Given the description of an element on the screen output the (x, y) to click on. 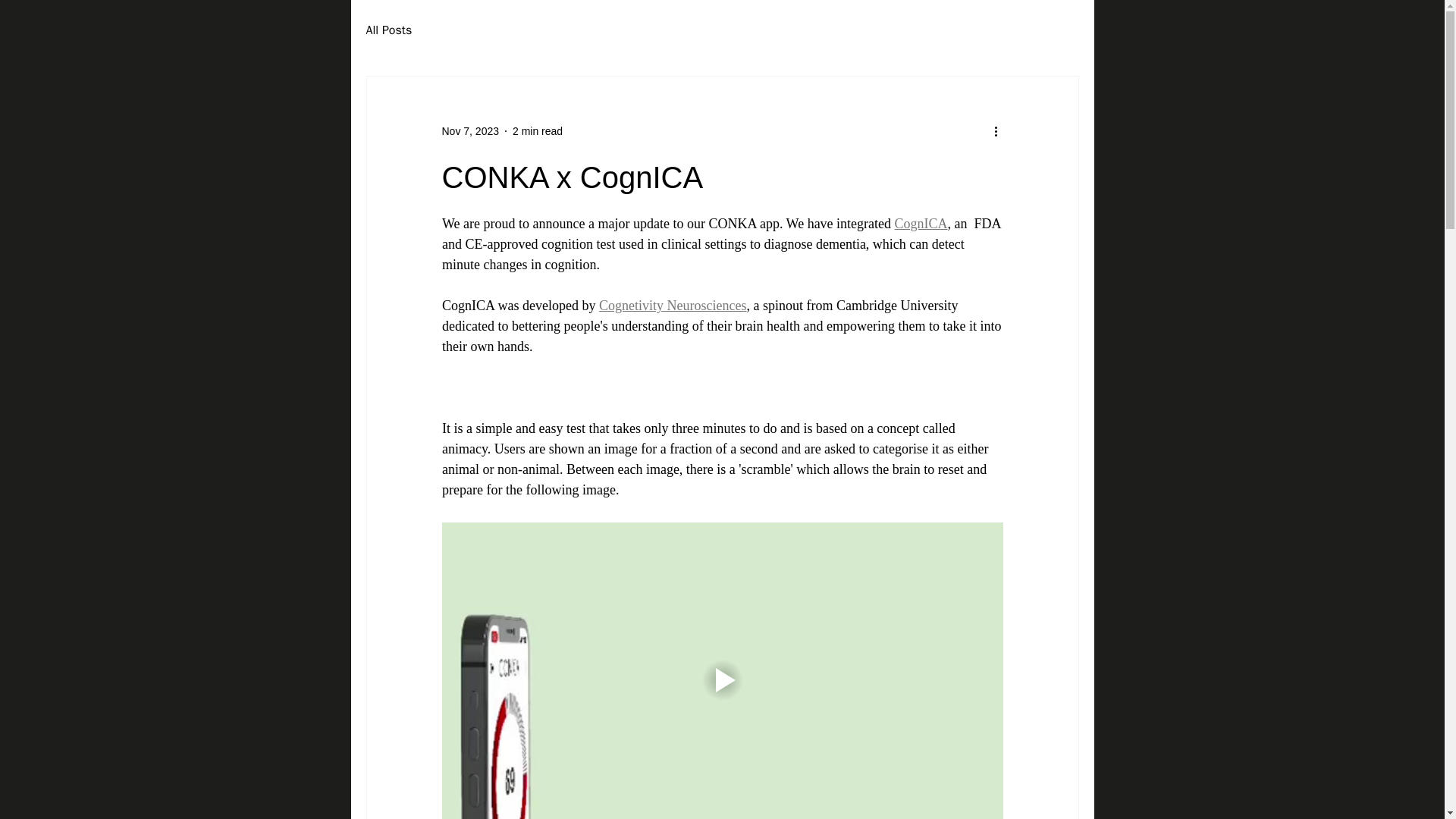
All Posts (388, 30)
Cognetivity Neurosciences (671, 305)
CognICA (920, 223)
2 min read (537, 130)
Nov 7, 2023 (470, 130)
